Given the description of an element on the screen output the (x, y) to click on. 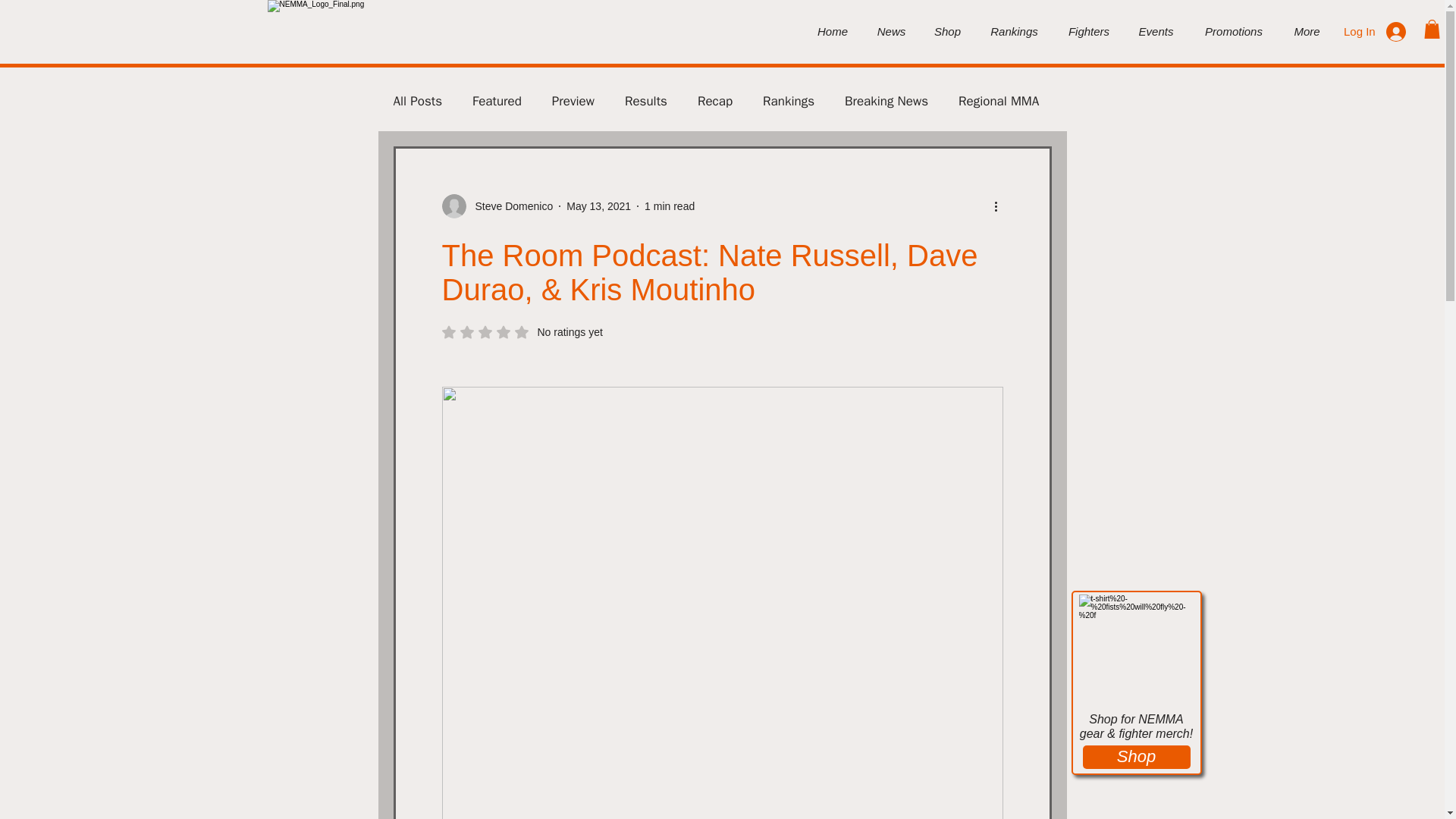
Results (645, 100)
Home (832, 31)
Preview (572, 100)
Rankings (787, 100)
May 13, 2021 (598, 205)
Breaking News (886, 100)
1 min read (669, 205)
News (891, 31)
Events (1156, 31)
Regional MMA (998, 100)
